Given the description of an element on the screen output the (x, y) to click on. 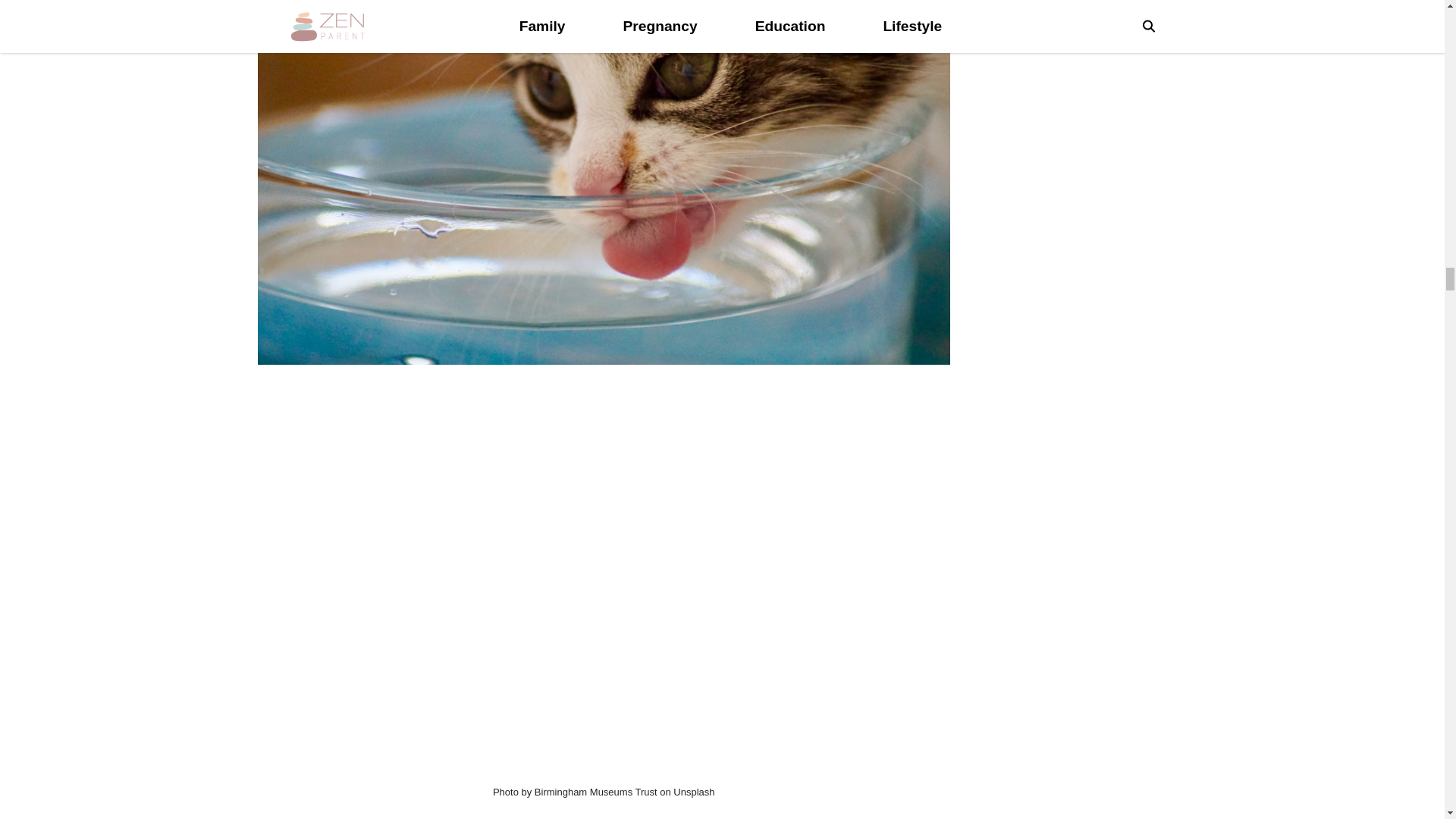
Photo by Birmingham Museums Trust on Unsplash (603, 791)
